Given the description of an element on the screen output the (x, y) to click on. 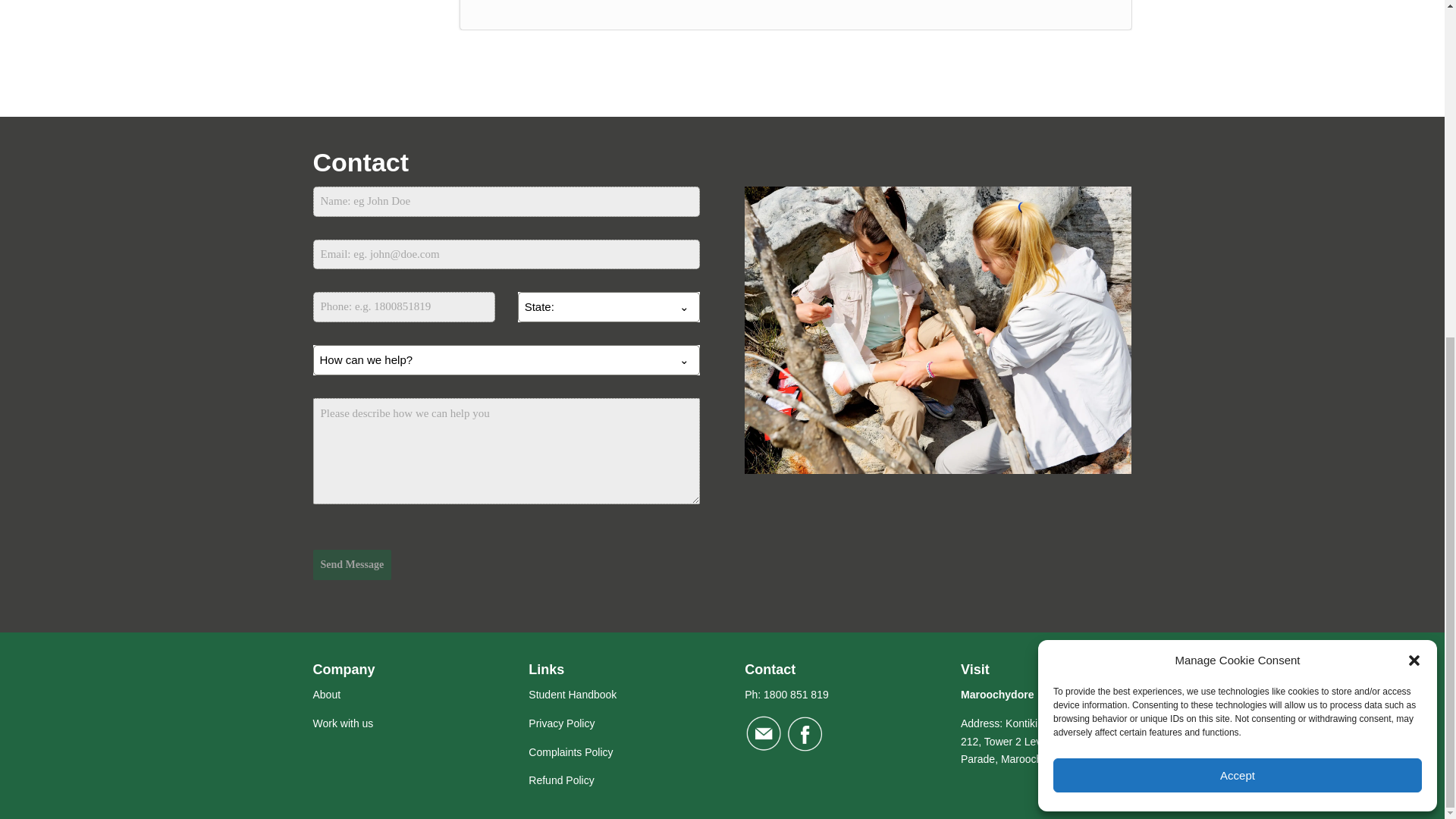
Maroochydore, Sunshine Coast - First Aid Training (1039, 741)
State: (593, 306)
How can we help? (491, 359)
Accept (1237, 207)
Maroochydore, Sunshine Coast - First Aid Training (996, 694)
